Given the description of an element on the screen output the (x, y) to click on. 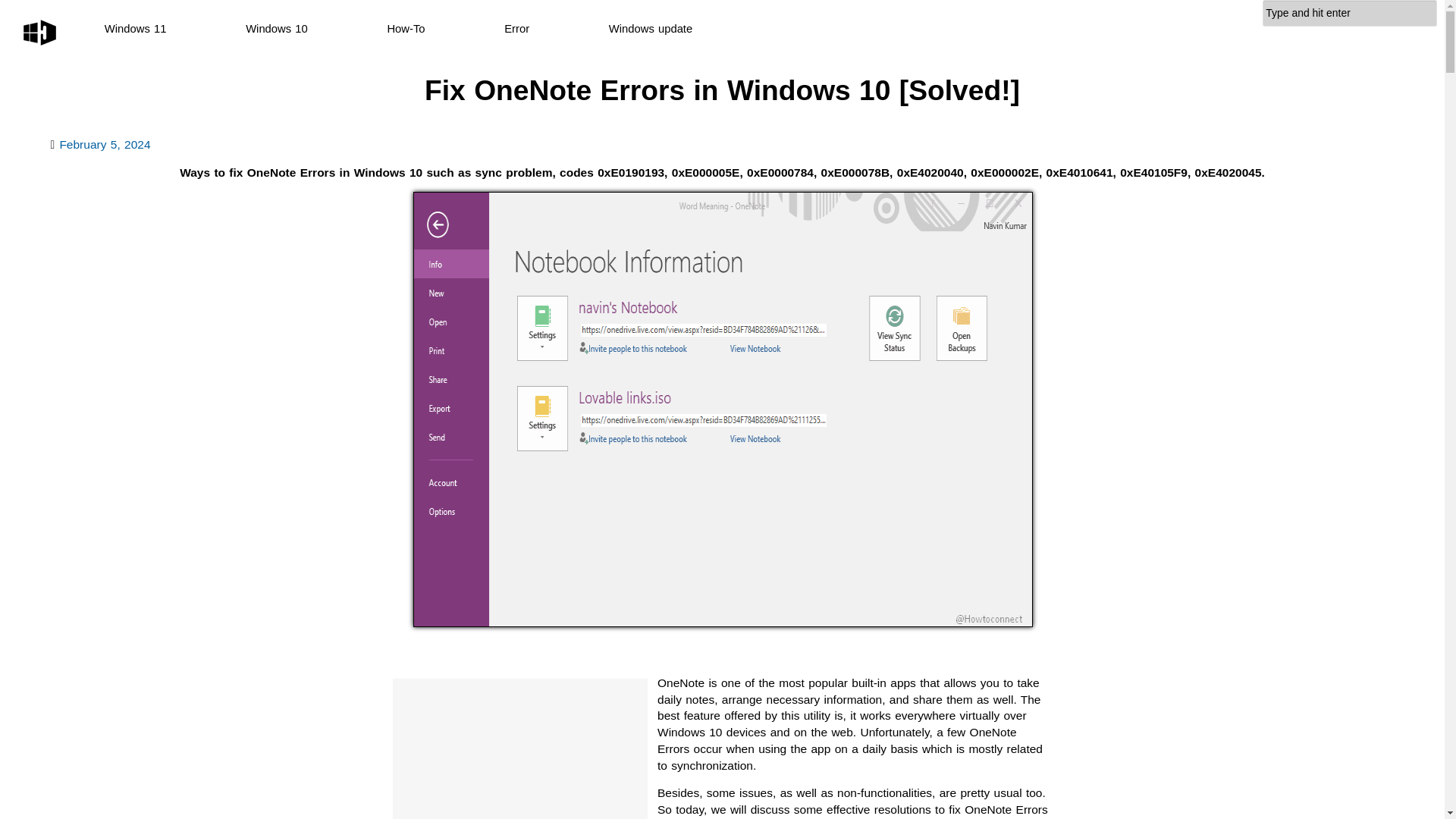
Windows 11 (136, 28)
1707119374 (104, 144)
Windows 10 (276, 28)
Advertisement (520, 748)
Windows update (650, 28)
Type and hit enter (1349, 13)
February 5, 2024 (104, 144)
How-To (406, 28)
Error (516, 28)
